Given the description of an element on the screen output the (x, y) to click on. 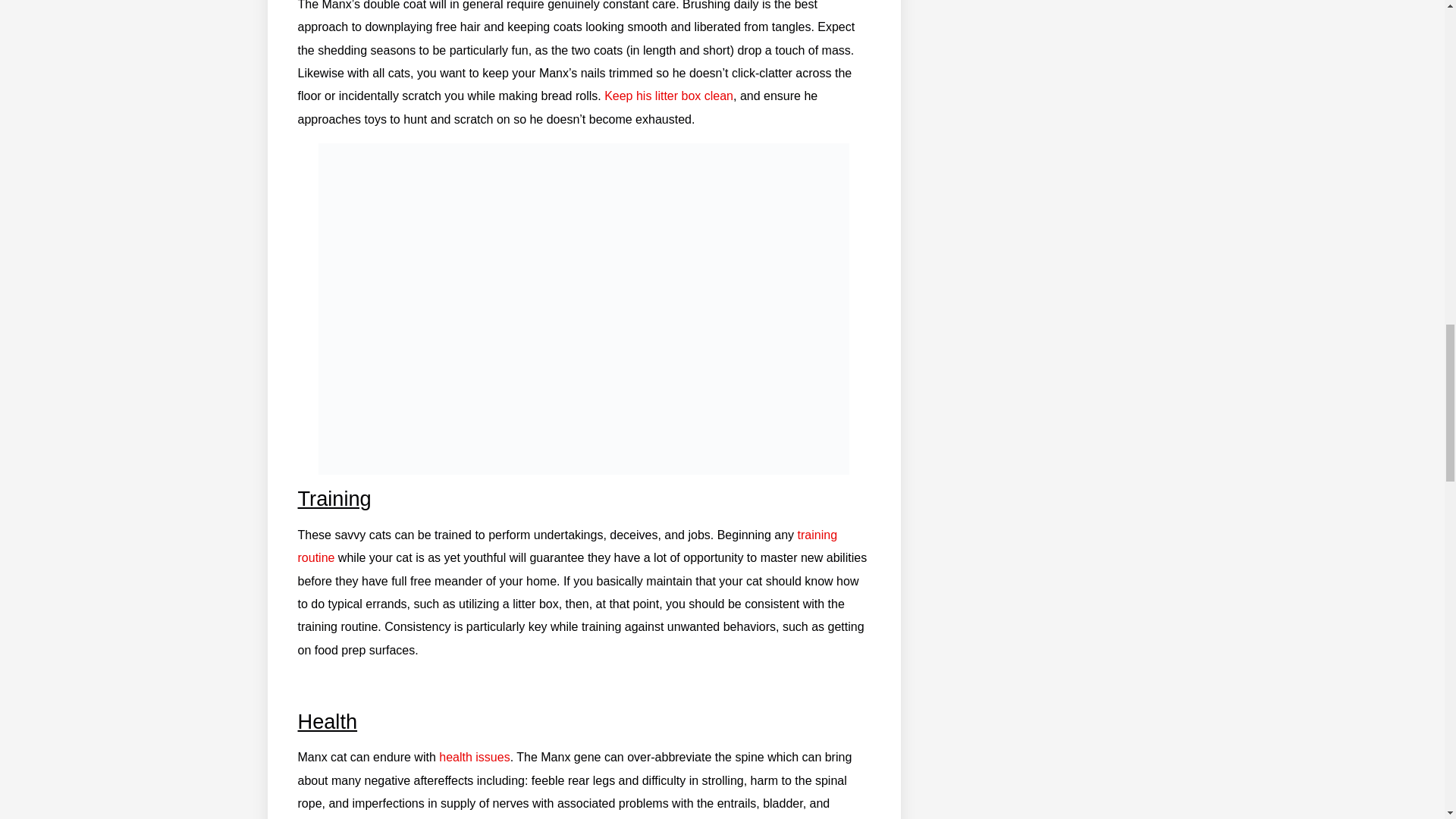
training routine (567, 546)
Keep his litter box clean (668, 95)
health issues (474, 757)
